Given the description of an element on the screen output the (x, y) to click on. 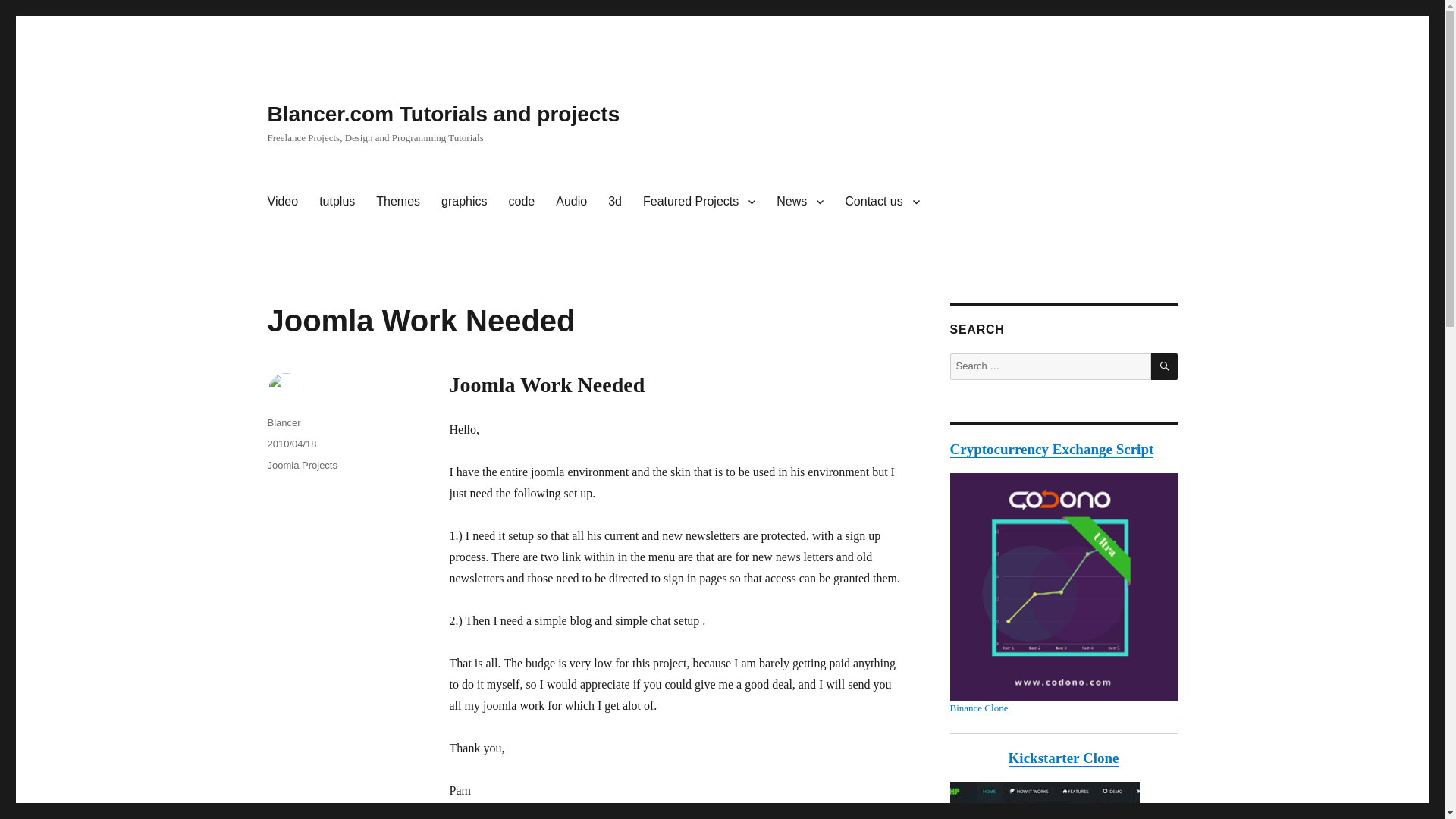
Blancer (282, 422)
News (799, 201)
Joomla Projects (301, 464)
Contact us (882, 201)
SEARCH (1164, 366)
Featured Projects (698, 201)
graphics (463, 201)
Kickstarter Clone (1064, 757)
Blancer.com Tutorials and projects (443, 114)
Video (282, 201)
